Given the description of an element on the screen output the (x, y) to click on. 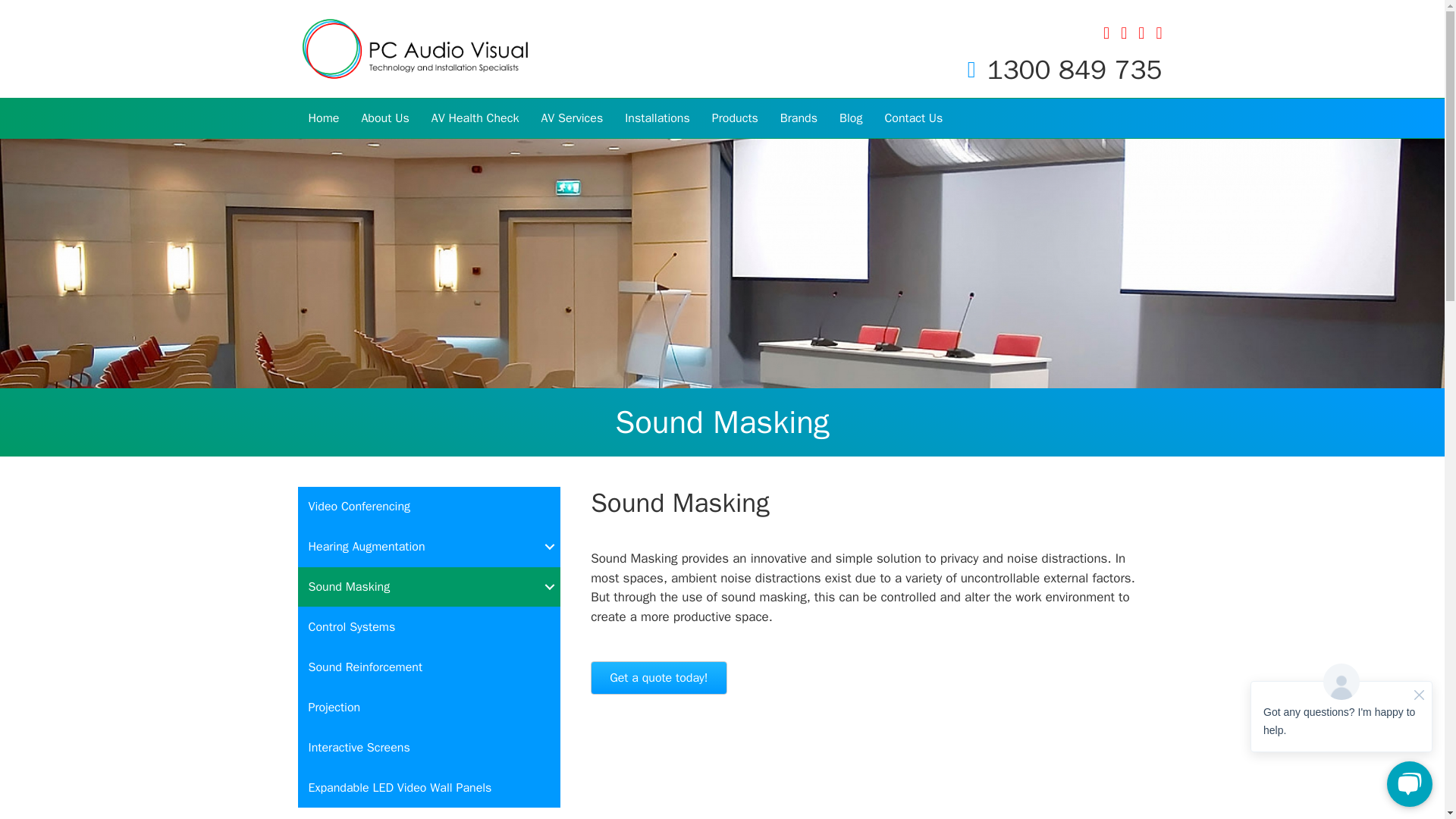
Contact Us (913, 118)
About Us (384, 118)
Home (323, 118)
Products (734, 118)
AV Services (570, 118)
Installations (657, 118)
Blog (850, 118)
AV Health Check (474, 118)
Sound Masking (428, 586)
Video Conferencing (428, 506)
Brands (799, 118)
Hearing Augmentation (428, 546)
